Given the description of an element on the screen output the (x, y) to click on. 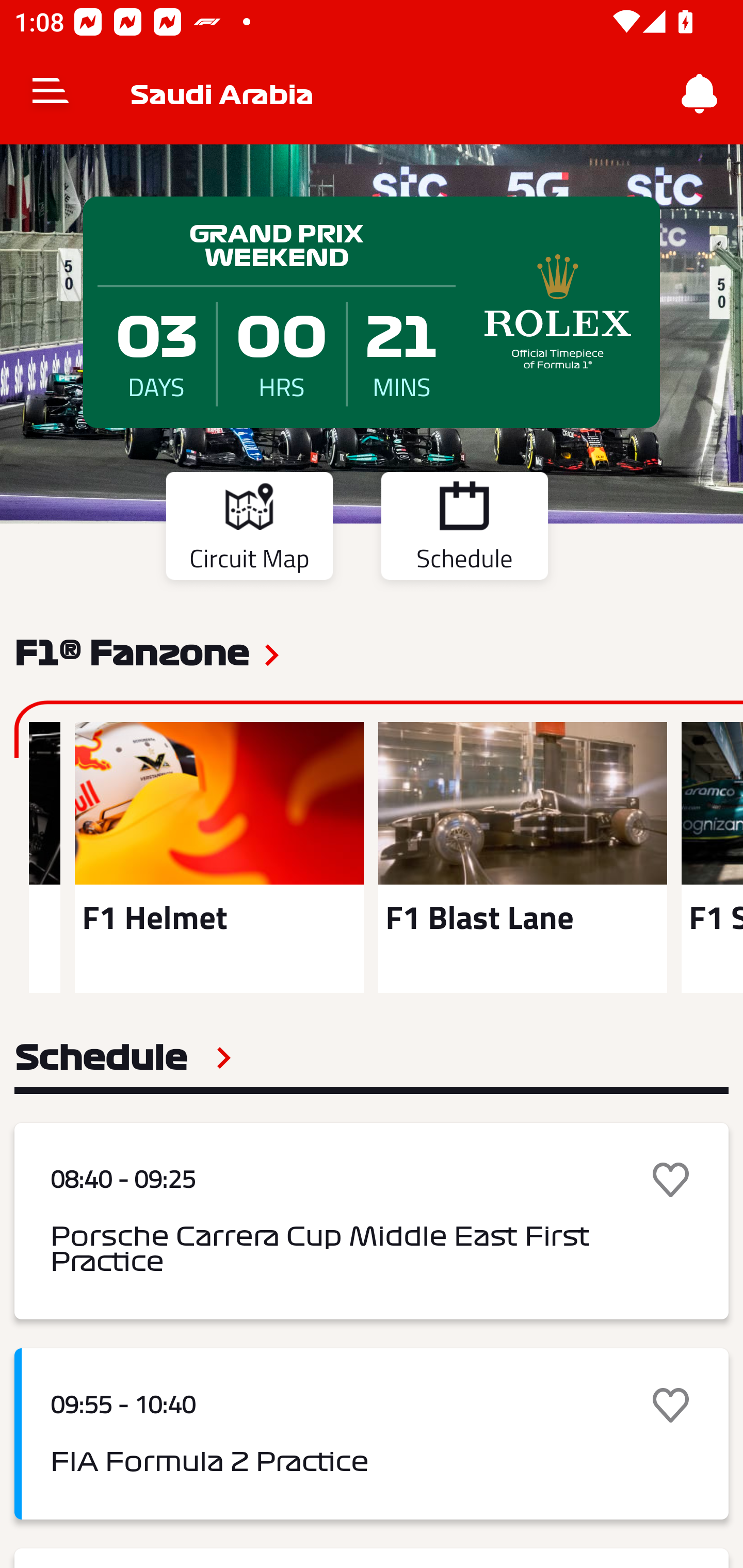
Navigate up (50, 93)
Notifications (699, 93)
Circuit Map (249, 528)
Schedule (464, 528)
F1® Fanzone (131, 651)
F1 Helmet (219, 857)
F1 Blast Lane (522, 857)
Schedule (122, 1057)
09:55 - 10:40 FIA Formula 2 Practice (371, 1433)
